Given the description of an element on the screen output the (x, y) to click on. 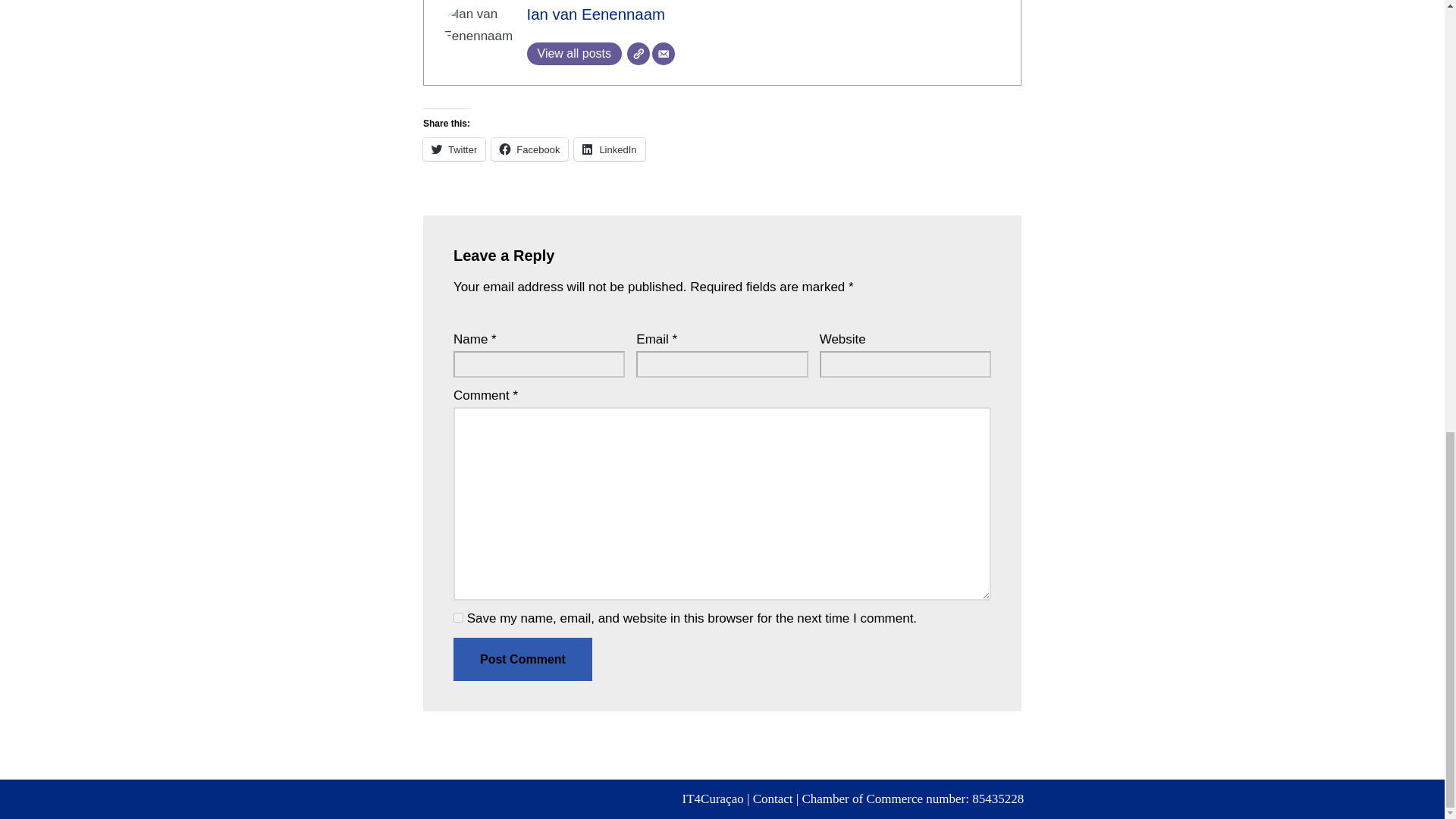
Ian van Eenennaam (595, 13)
Ian van Eenennaam (595, 13)
Facebook (529, 149)
Click to share on Facebook (529, 149)
yes (457, 617)
LinkedIn (609, 149)
Twitter (453, 149)
Click to share on LinkedIn (609, 149)
Post Comment (522, 659)
Post Comment (522, 659)
Contact (772, 798)
View all posts (573, 53)
View all posts (573, 53)
Click to share on Twitter (453, 149)
